Given the description of an element on the screen output the (x, y) to click on. 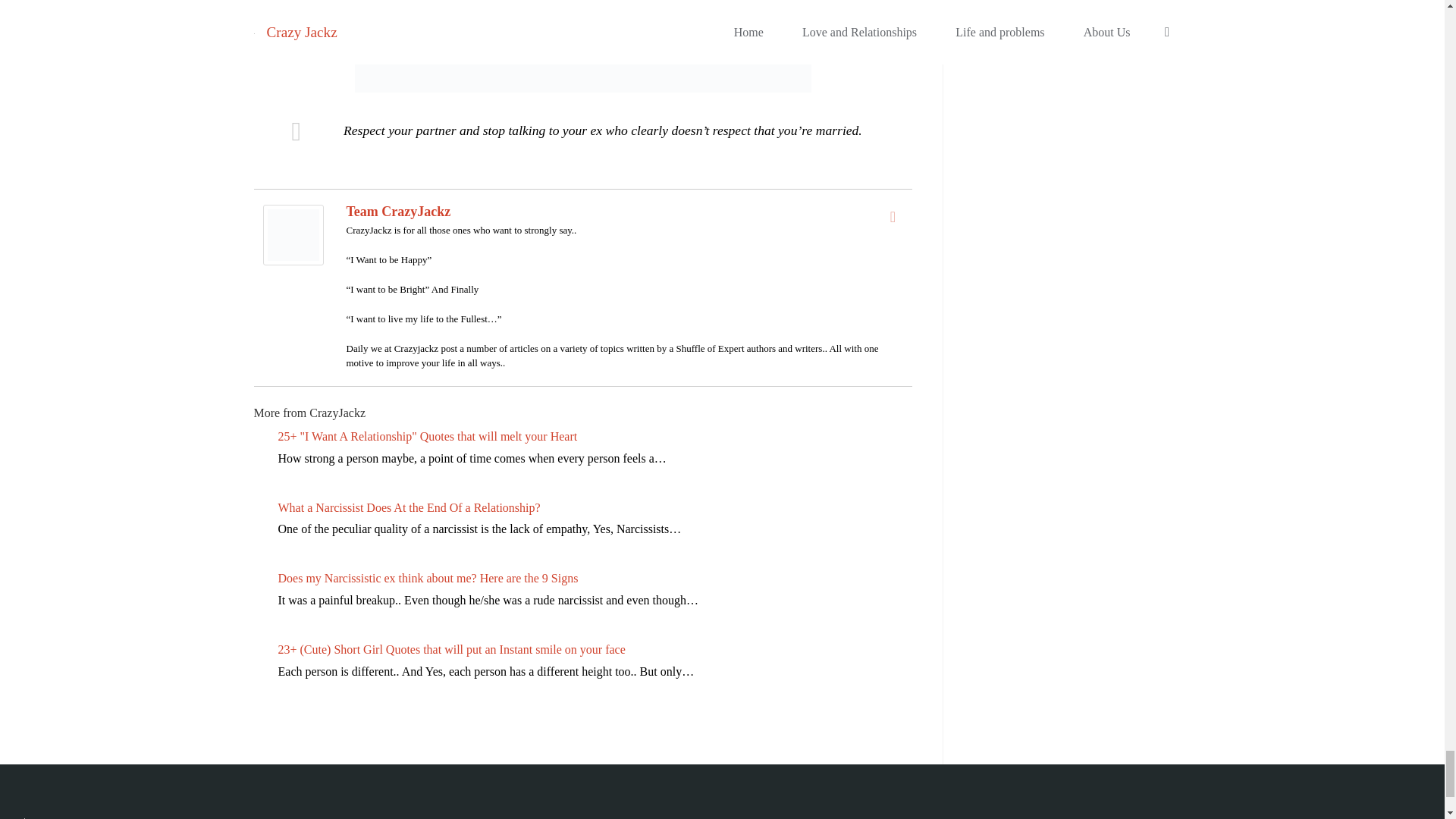
Does my Narcissistic ex think about me? Here are the 9 Signs (428, 577)
Facebook (892, 217)
Team CrazyJackz (397, 211)
Team CrazyJackz (292, 232)
What a Narcissist Does At the End Of a Relationship? (409, 507)
